Given the description of an element on the screen output the (x, y) to click on. 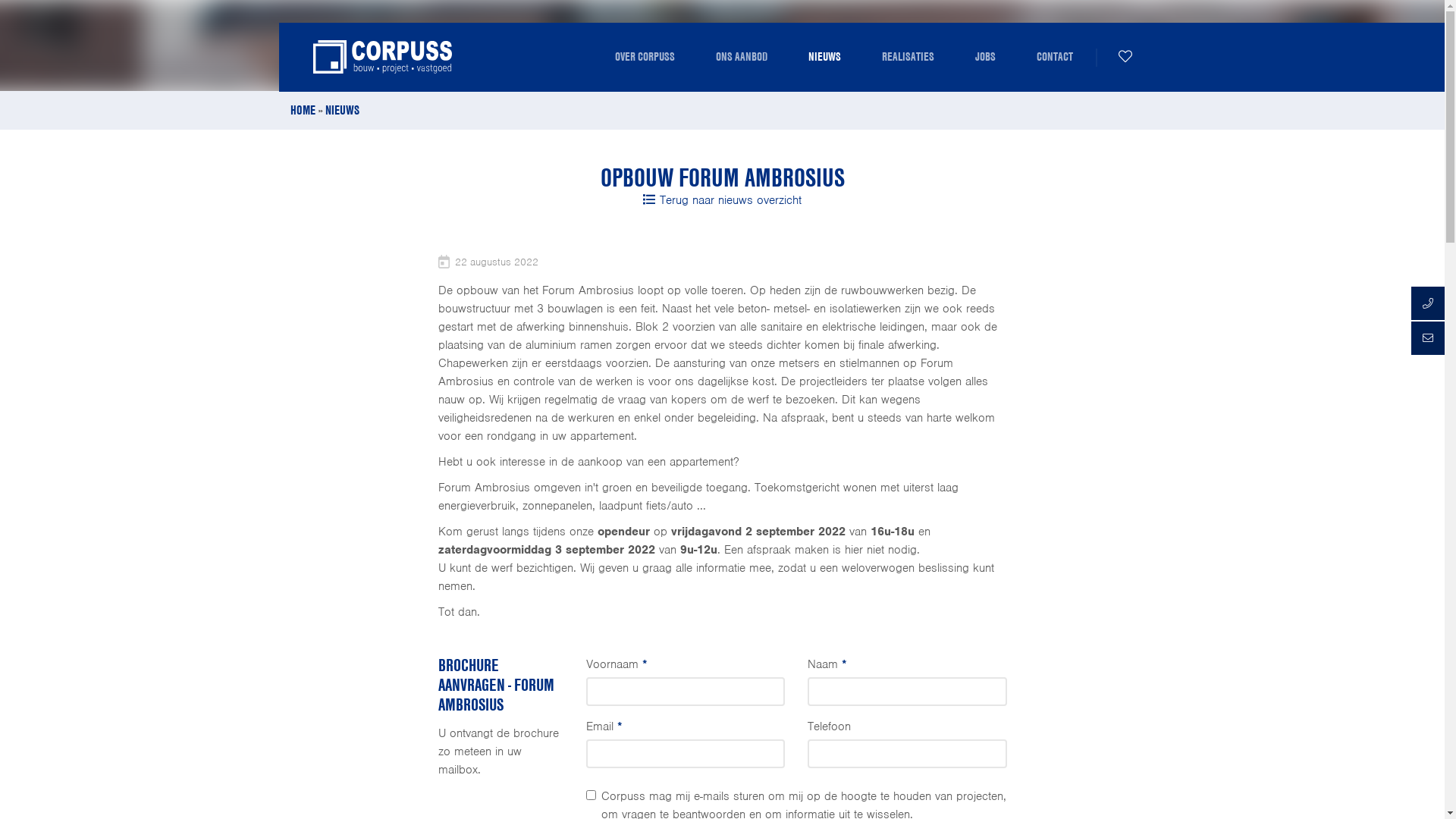
CONTACT Element type: text (1054, 56)
HOME Element type: text (301, 109)
JOBS Element type: text (984, 56)
Terug naar nieuws overzicht Element type: text (722, 199)
NIEUWS Element type: text (823, 56)
OVER CORPUSS Element type: text (644, 56)
ONS AANBOD Element type: text (740, 56)
REALISATIES Element type: text (907, 56)
Home Element type: hover (381, 56)
Overslaan en naar de inhoud gaan Element type: text (87, 0)
NIEUWS Element type: text (341, 109)
